Given the description of an element on the screen output the (x, y) to click on. 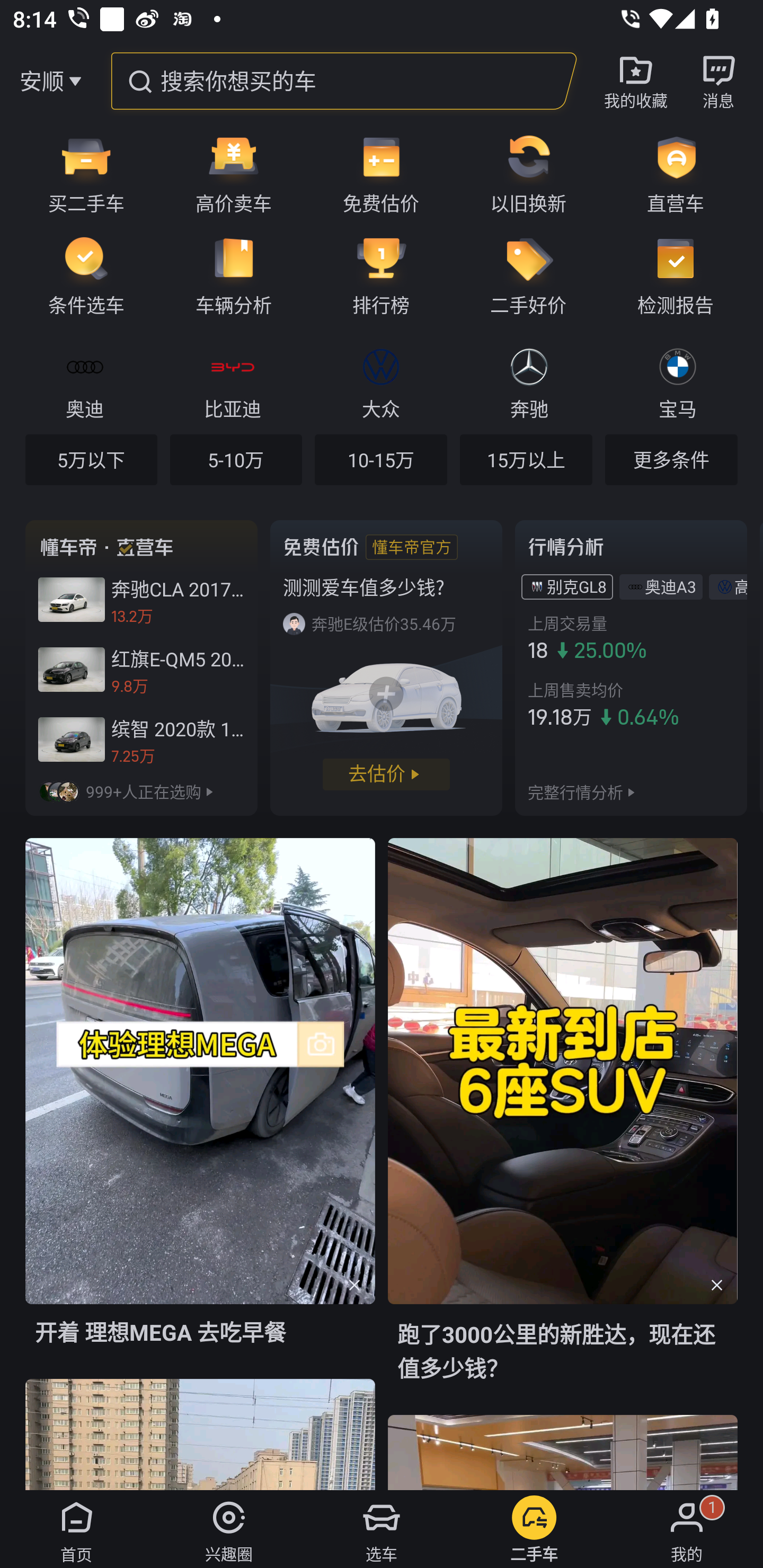
我的收藏 (635, 80)
安顺 (41, 80)
买二手车 (80, 172)
高价卖车 (233, 172)
免费估价 (380, 172)
以旧换新 (528, 172)
直营车 (682, 172)
条件选车 (80, 274)
车辆分析 (233, 274)
排行榜 (380, 274)
二手好价 (528, 274)
检测报告 (682, 274)
奥迪 (84, 381)
比亚迪 (232, 381)
大众 (380, 381)
奔驰 (529, 381)
宝马 (677, 381)
5万以下 (91, 459)
5-10万 (236, 459)
10-15万 (380, 459)
15万以上 (526, 459)
更多条件 (671, 459)
测测爱车值多少钱? 奔驰E级估价35.46万 去估价  (386, 667)
奔驰CLA 2017款 CLA 200 动感型 13.2万 (141, 599)
别克GL8 (576, 585)
奥迪A3 (669, 585)
红旗E-QM5 2022款 充电 431km乐享版 5座 9.8万 (141, 669)
缤智 2020款 1.5L CVT先锋版 7.25万 (141, 739)
999+人正在选购 (141, 791)
完整行情分析 (575, 791)
开着 理想MEGA 去吃早餐 (200, 1107)
跑了3000公里的新胜达，现在还值多少钱？ (562, 1125)
 首页 (76, 1528)
 兴趣圈 (228, 1528)
 选车 (381, 1528)
二手车 (533, 1528)
 我的 (686, 1528)
